Given the description of an element on the screen output the (x, y) to click on. 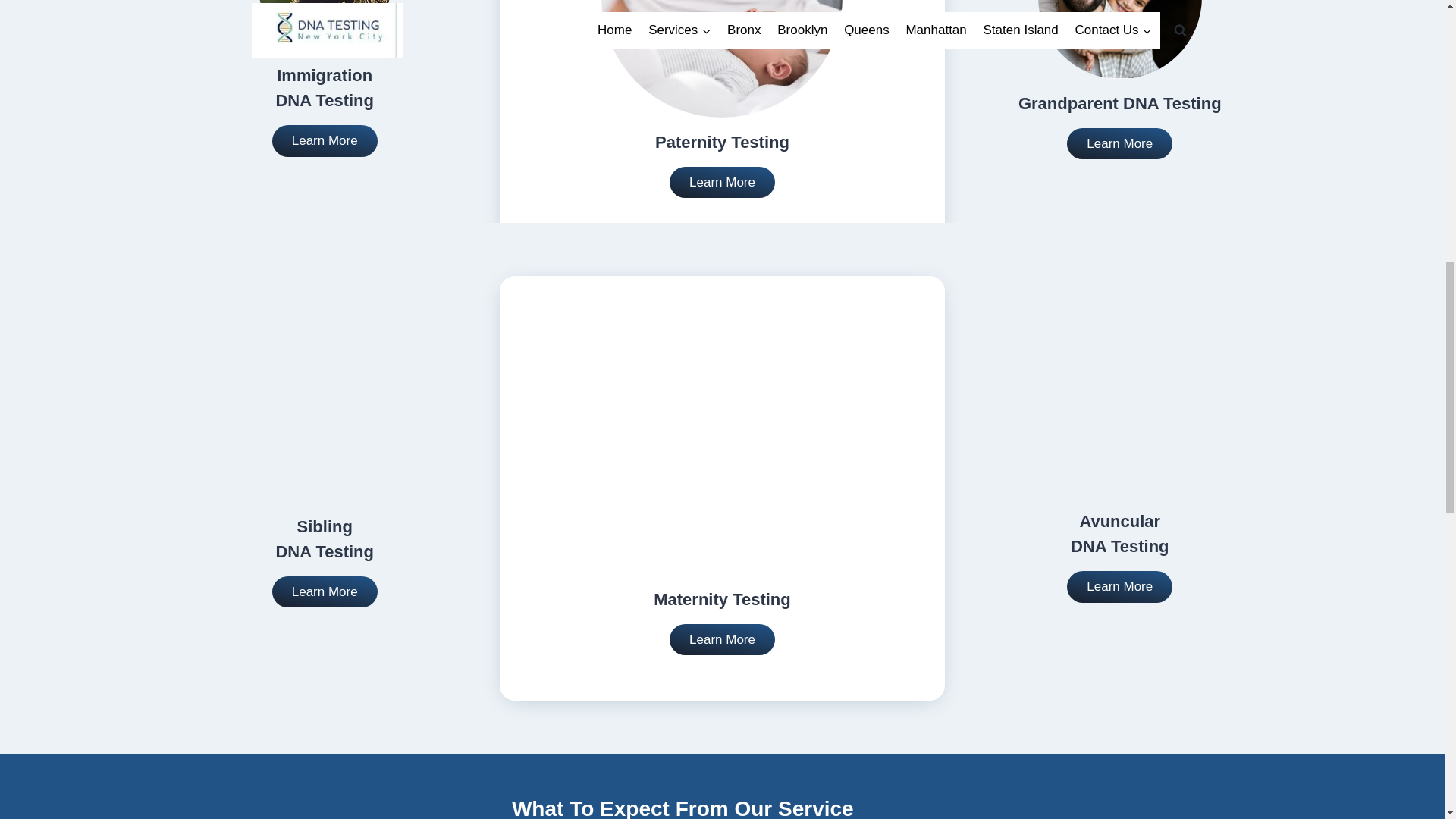
Learn More (1119, 586)
Learn More (324, 141)
Learn More (721, 183)
Learn More (324, 592)
Learn More (721, 640)
Learn More (1119, 143)
